Given the description of an element on the screen output the (x, y) to click on. 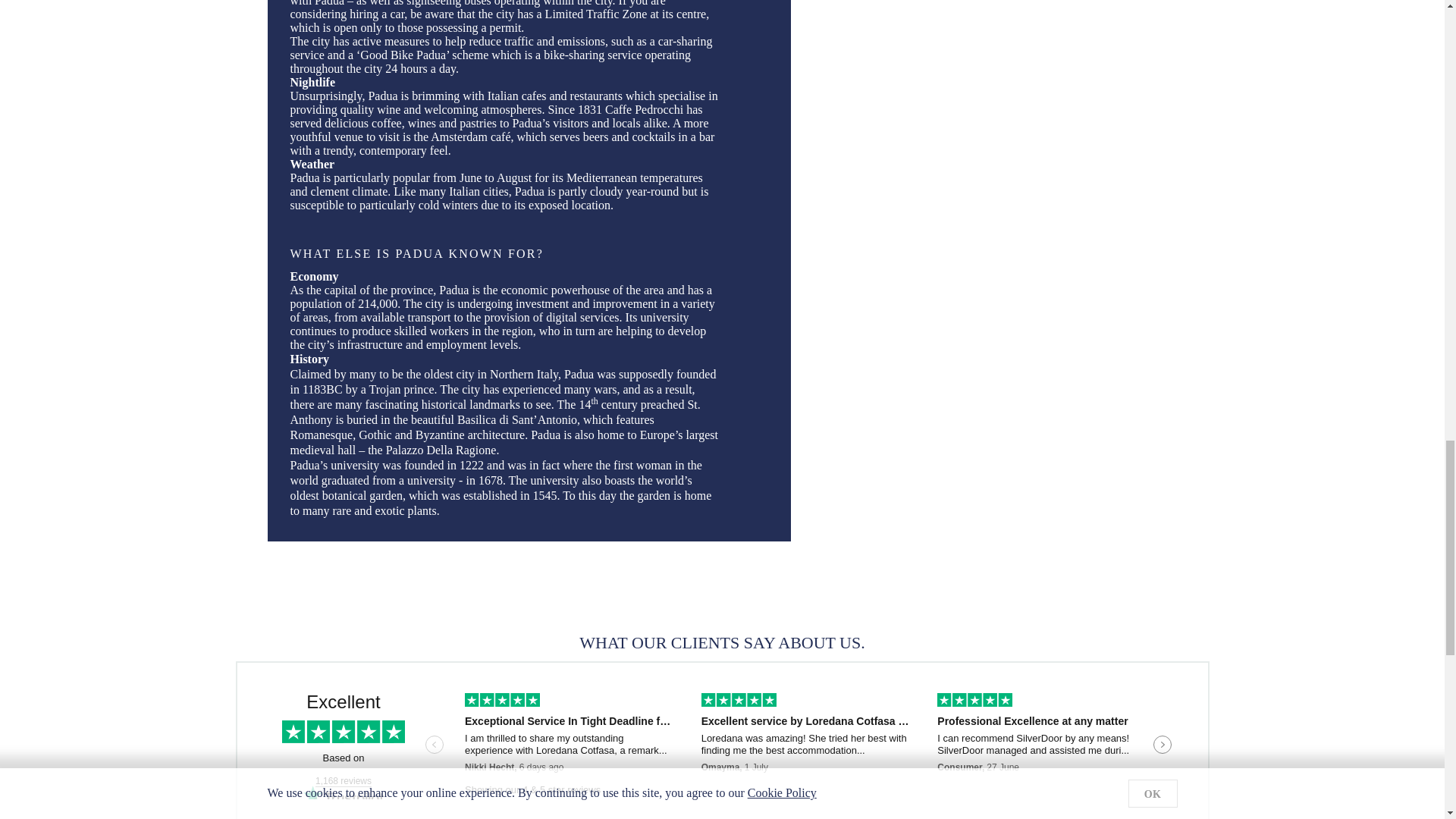
Customer reviews powered by Trustpilot (721, 745)
